Given the description of an element on the screen output the (x, y) to click on. 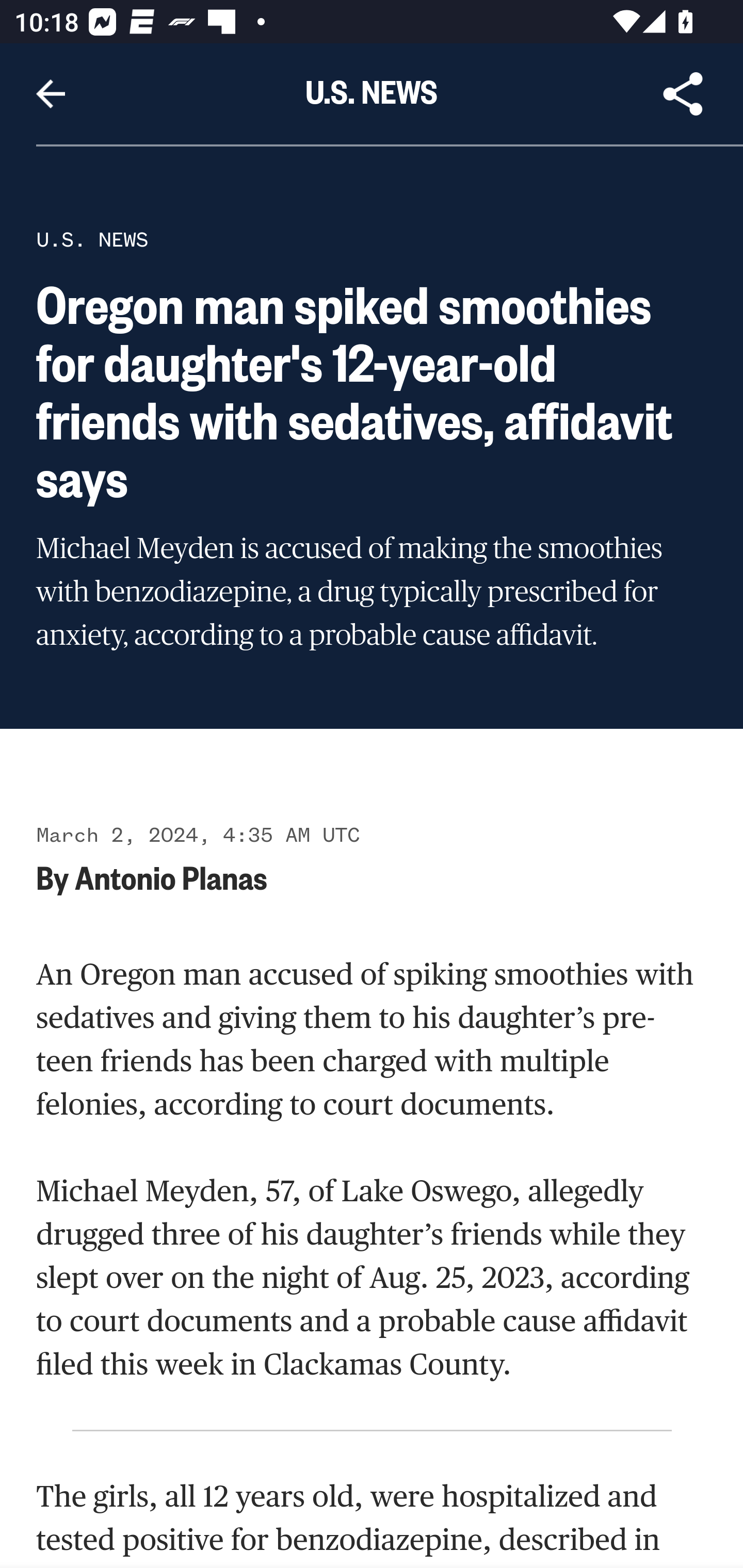
Navigate up (50, 93)
Share Article, button (683, 94)
U.S. NEWS (91, 239)
